Given the description of an element on the screen output the (x, y) to click on. 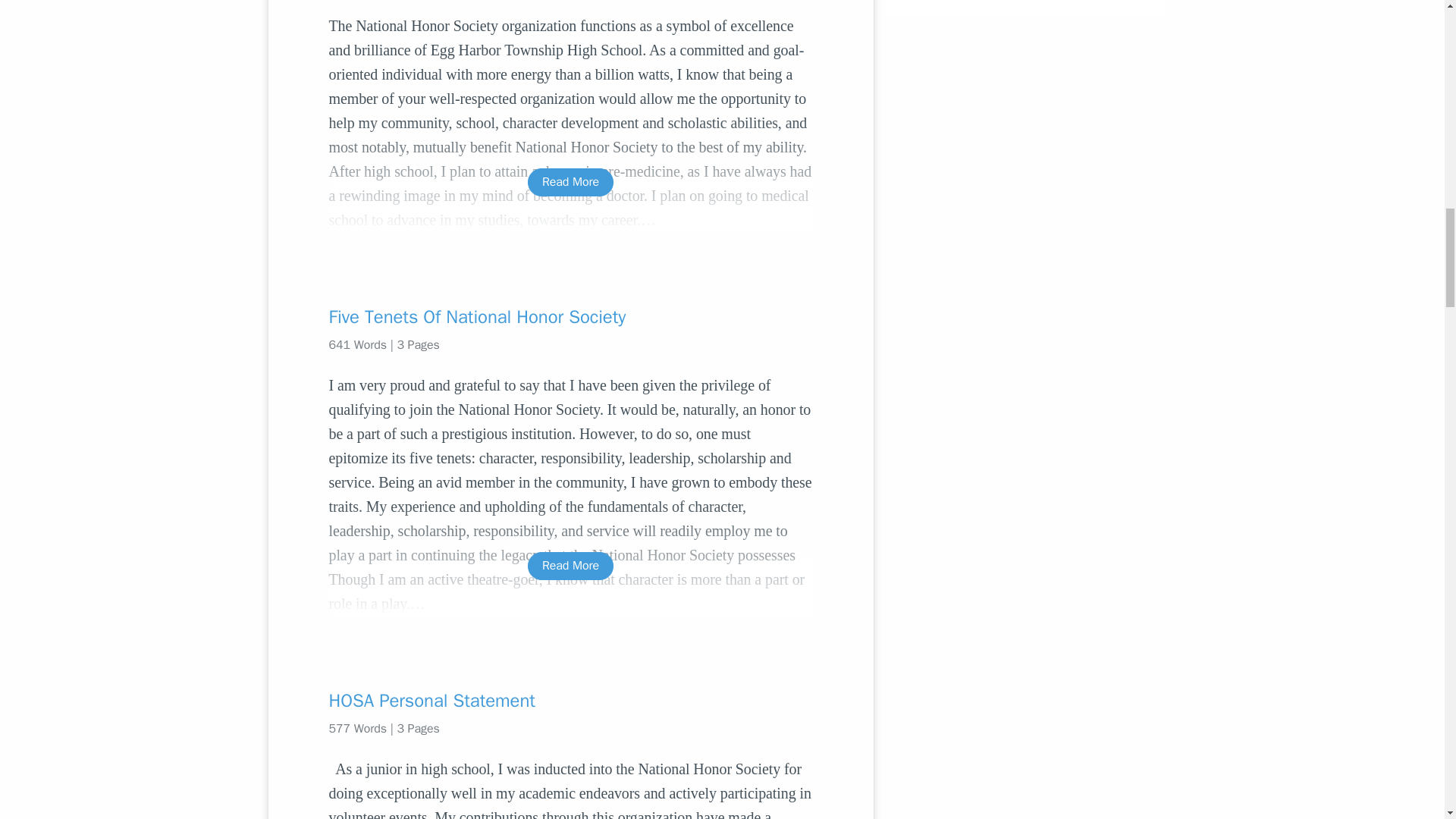
Read More (569, 565)
HOSA Personal Statement (570, 700)
Read More (569, 182)
Five Tenets Of National Honor Society (570, 316)
